Given the description of an element on the screen output the (x, y) to click on. 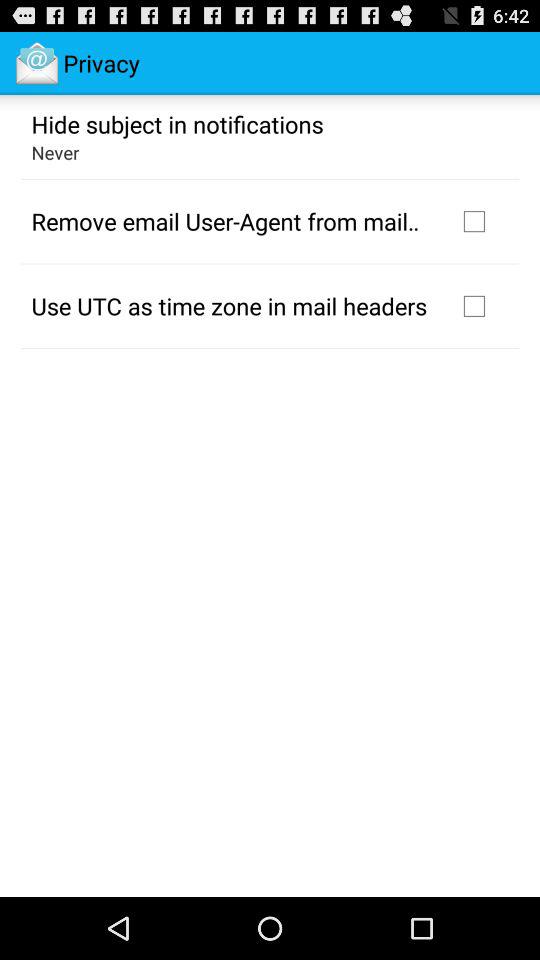
swipe to the remove email user app (231, 221)
